Given the description of an element on the screen output the (x, y) to click on. 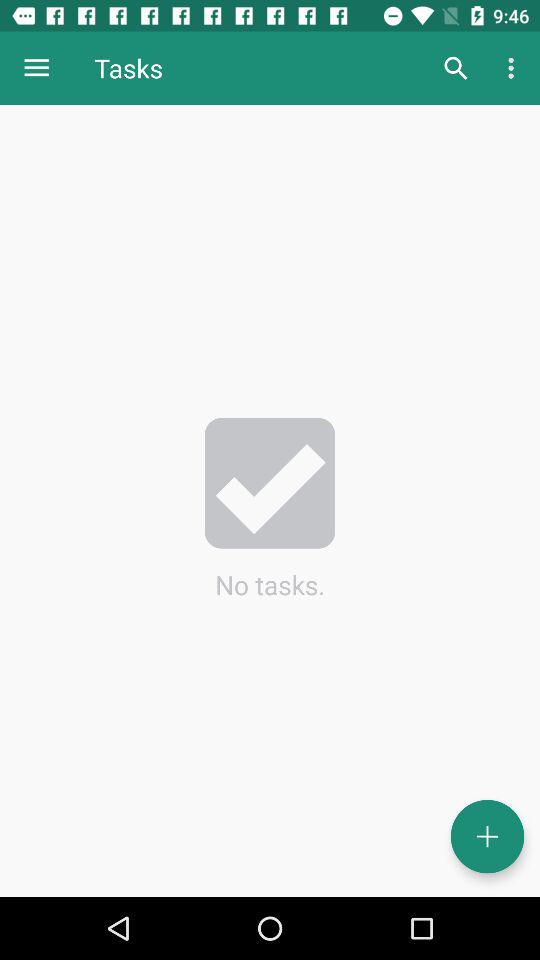
select the icon next to tasks (36, 68)
